Given the description of an element on the screen output the (x, y) to click on. 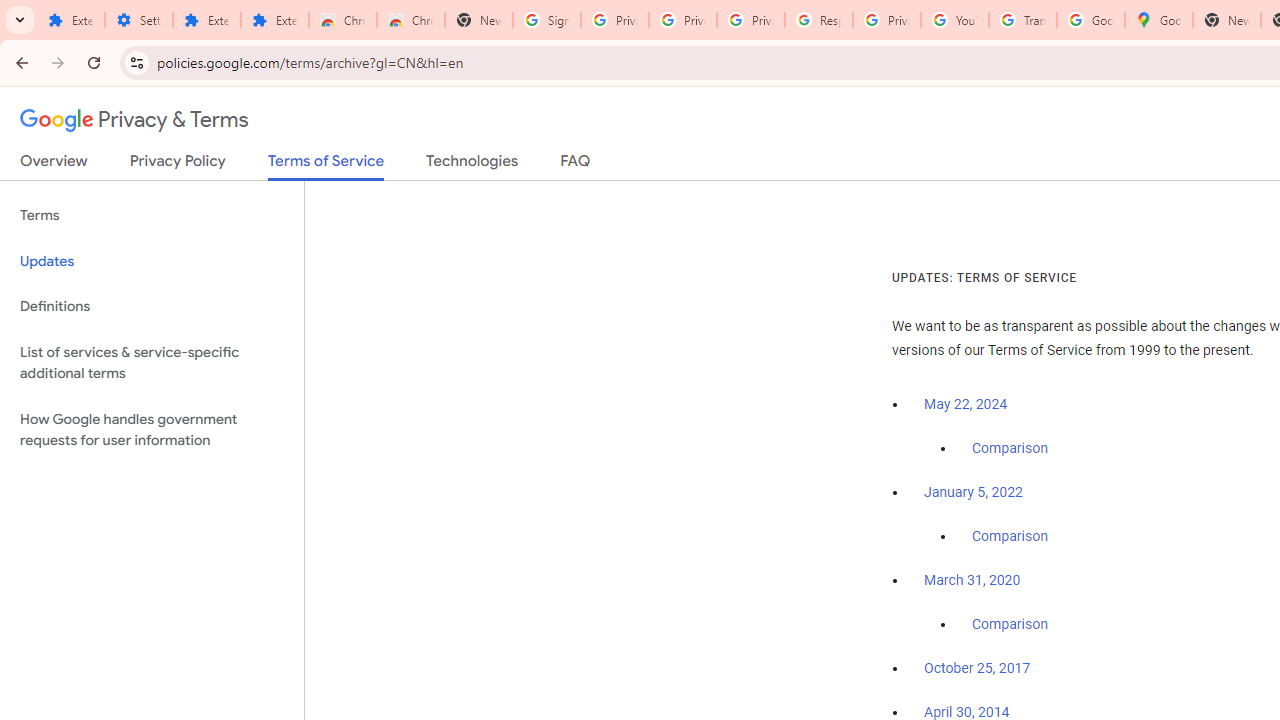
Terms of Service (326, 166)
New Tab (479, 20)
FAQ (575, 165)
Definitions (152, 306)
New Tab (1226, 20)
May 22, 2024 (966, 404)
Terms (152, 215)
Sign in - Google Accounts (547, 20)
Technologies (472, 165)
System (10, 11)
October 25, 2017 (977, 669)
System (10, 11)
Google Maps (1158, 20)
Forward (57, 62)
